Given the description of an element on the screen output the (x, y) to click on. 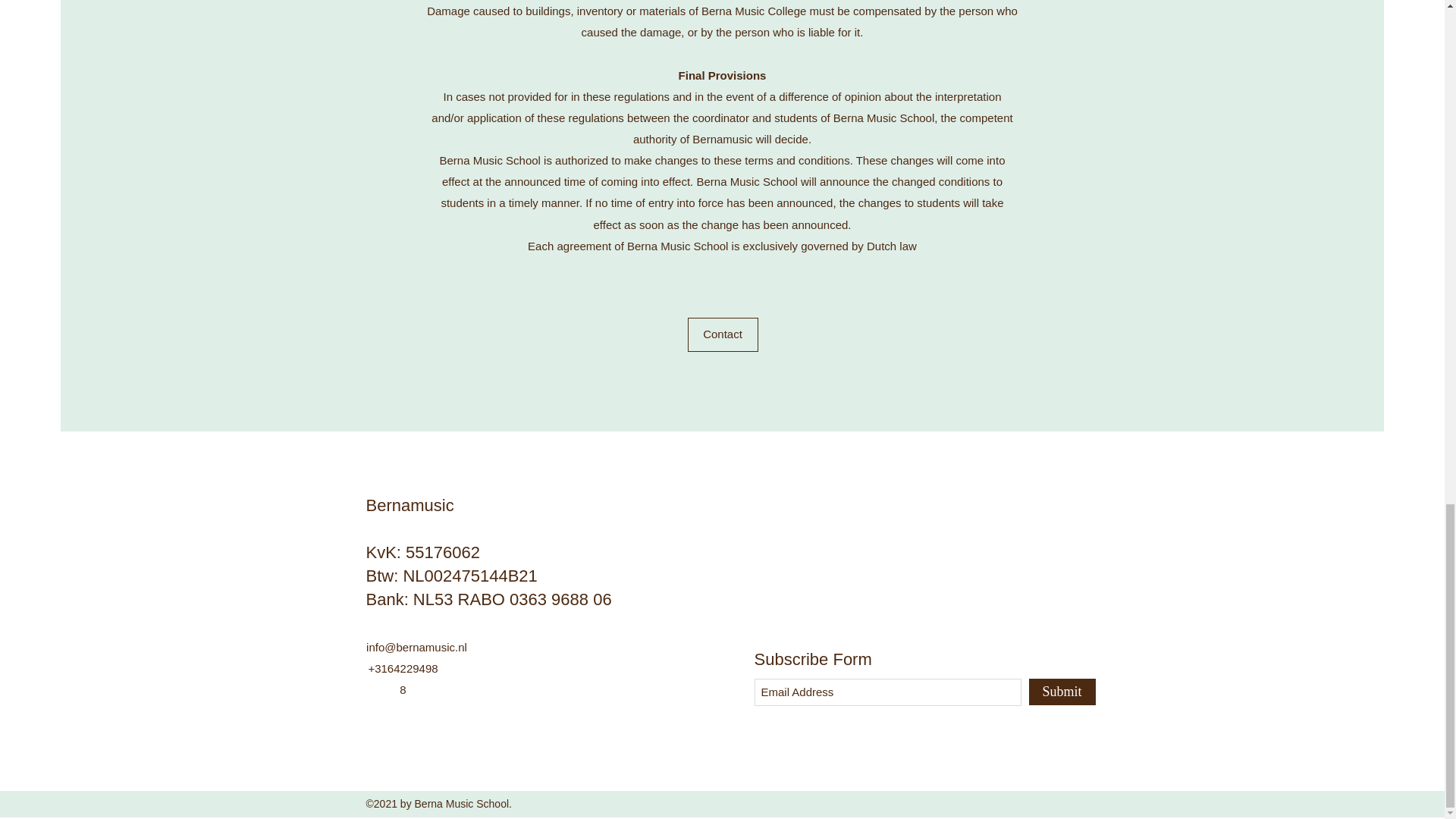
Submit (1060, 691)
Bernamusic  (411, 505)
Contact (722, 334)
